Given the description of an element on the screen output the (x, y) to click on. 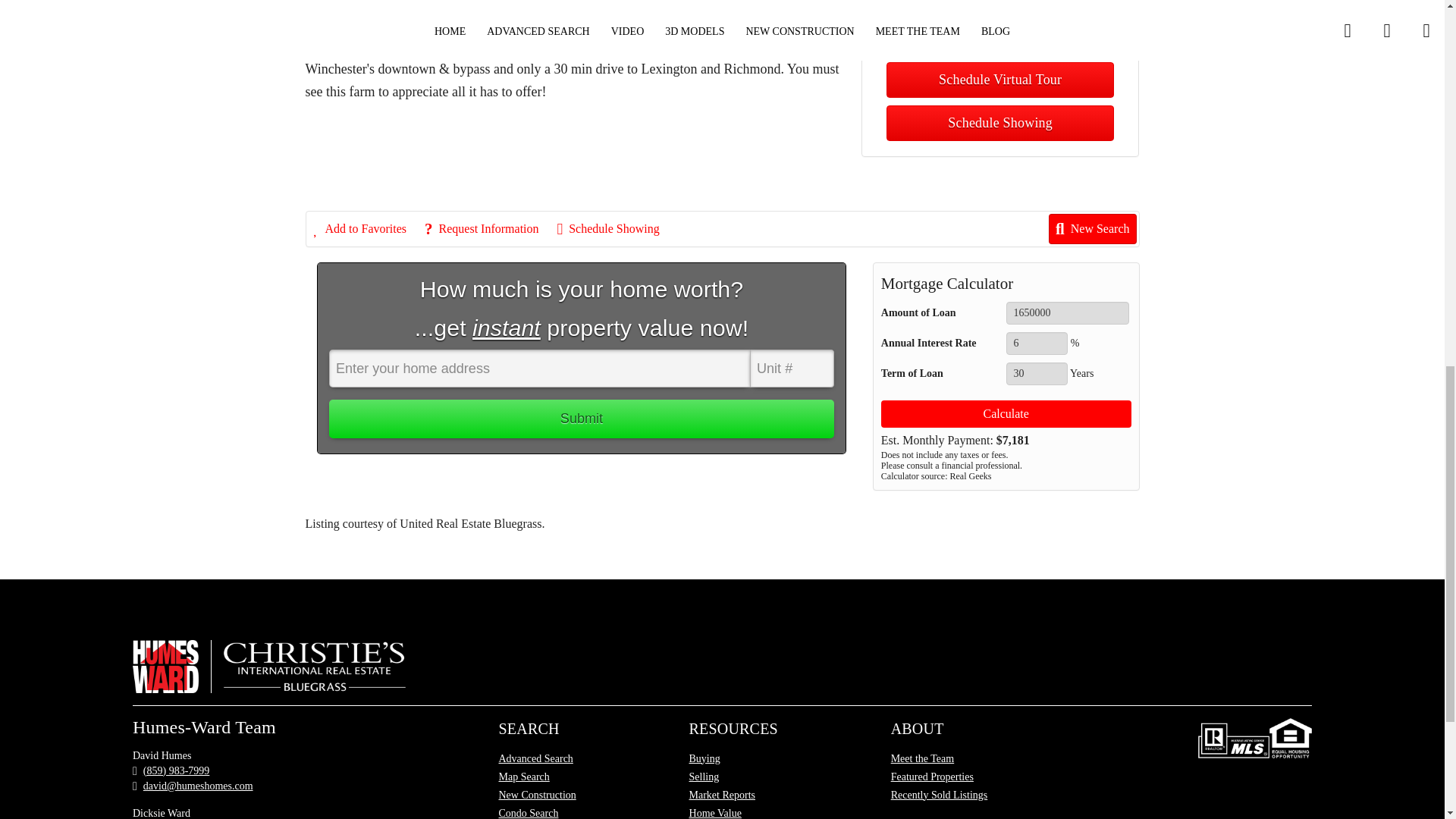
1650000 (1067, 313)
6 (1036, 343)
30 (1036, 373)
